Given the description of an element on the screen output the (x, y) to click on. 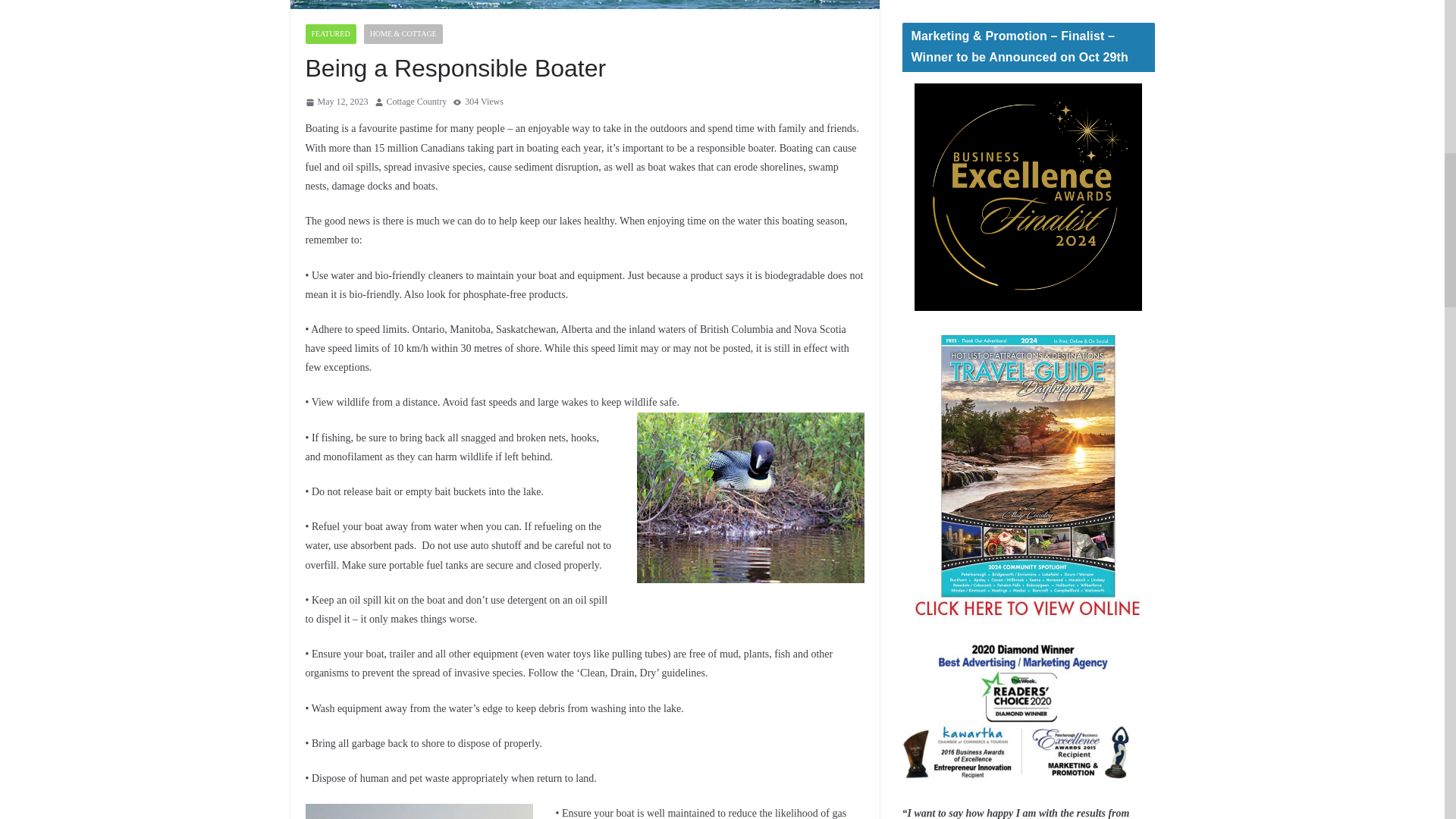
May 12, 2023 (336, 102)
Cottage Country (416, 102)
7:00 am (336, 102)
FEATURED (329, 34)
Cottage Country (416, 102)
